Given the description of an element on the screen output the (x, y) to click on. 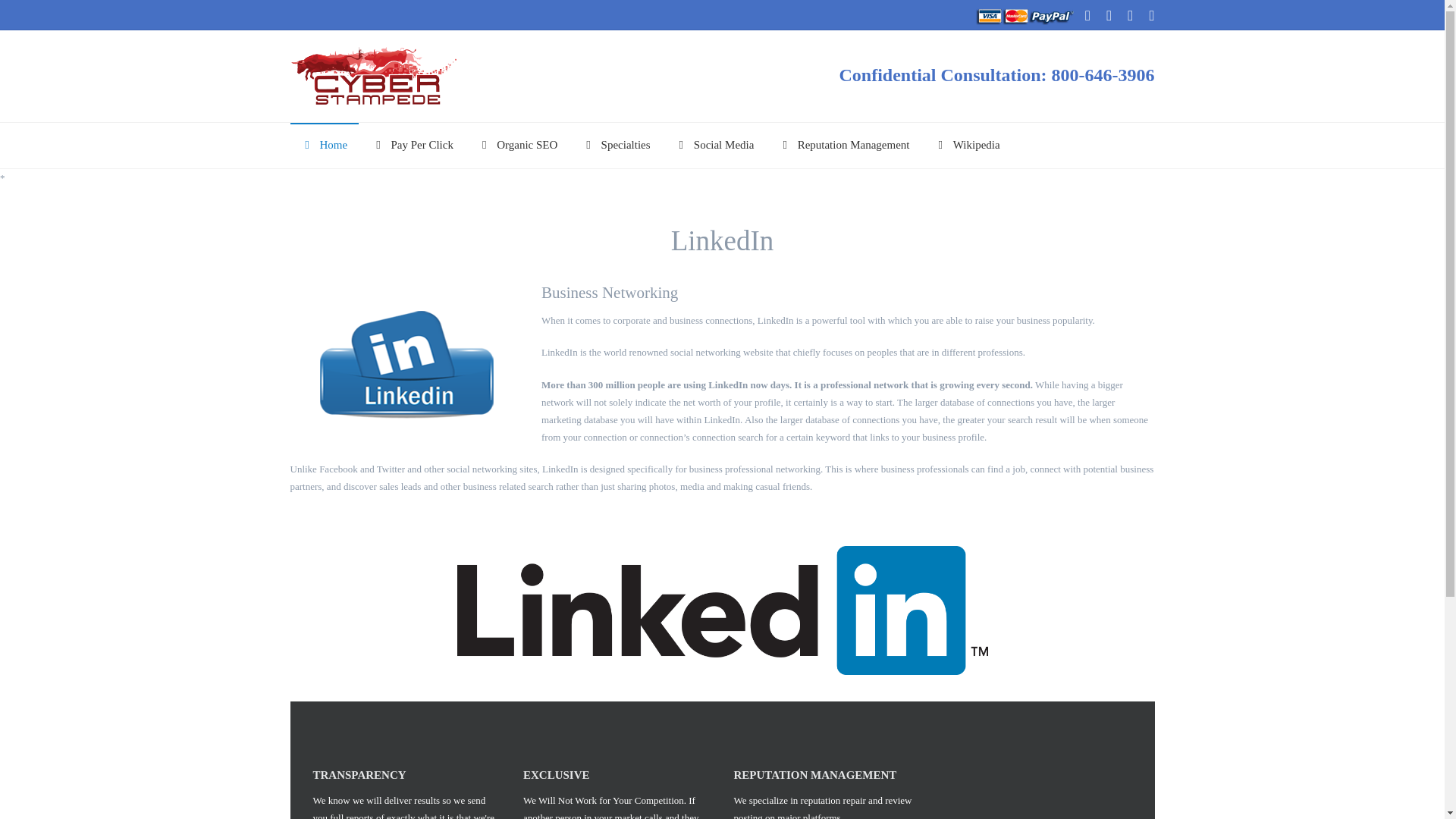
Social Media (714, 145)
Pay Per Click (412, 145)
Specialties (617, 145)
Reputation Management (844, 145)
Home (323, 145)
Wikipedia (967, 145)
SEO and SEM (373, 74)
Organic SEO (518, 145)
